Given the description of an element on the screen output the (x, y) to click on. 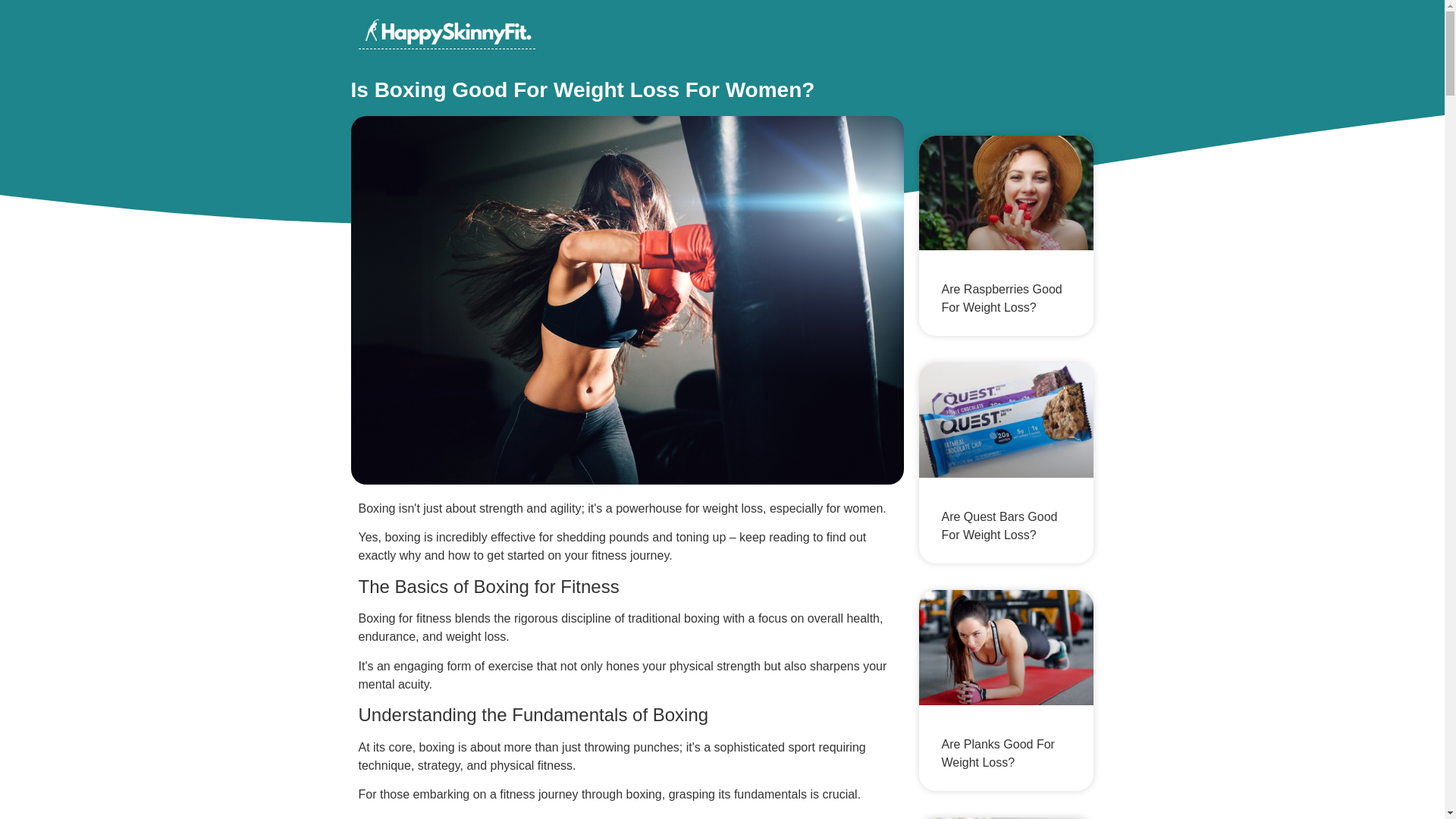
Are Planks Good For Weight Loss? (998, 753)
Are Raspberries Good For Weight Loss? (1002, 297)
Are Quest Bars Good For Weight Loss? (1000, 525)
